Given the description of an element on the screen output the (x, y) to click on. 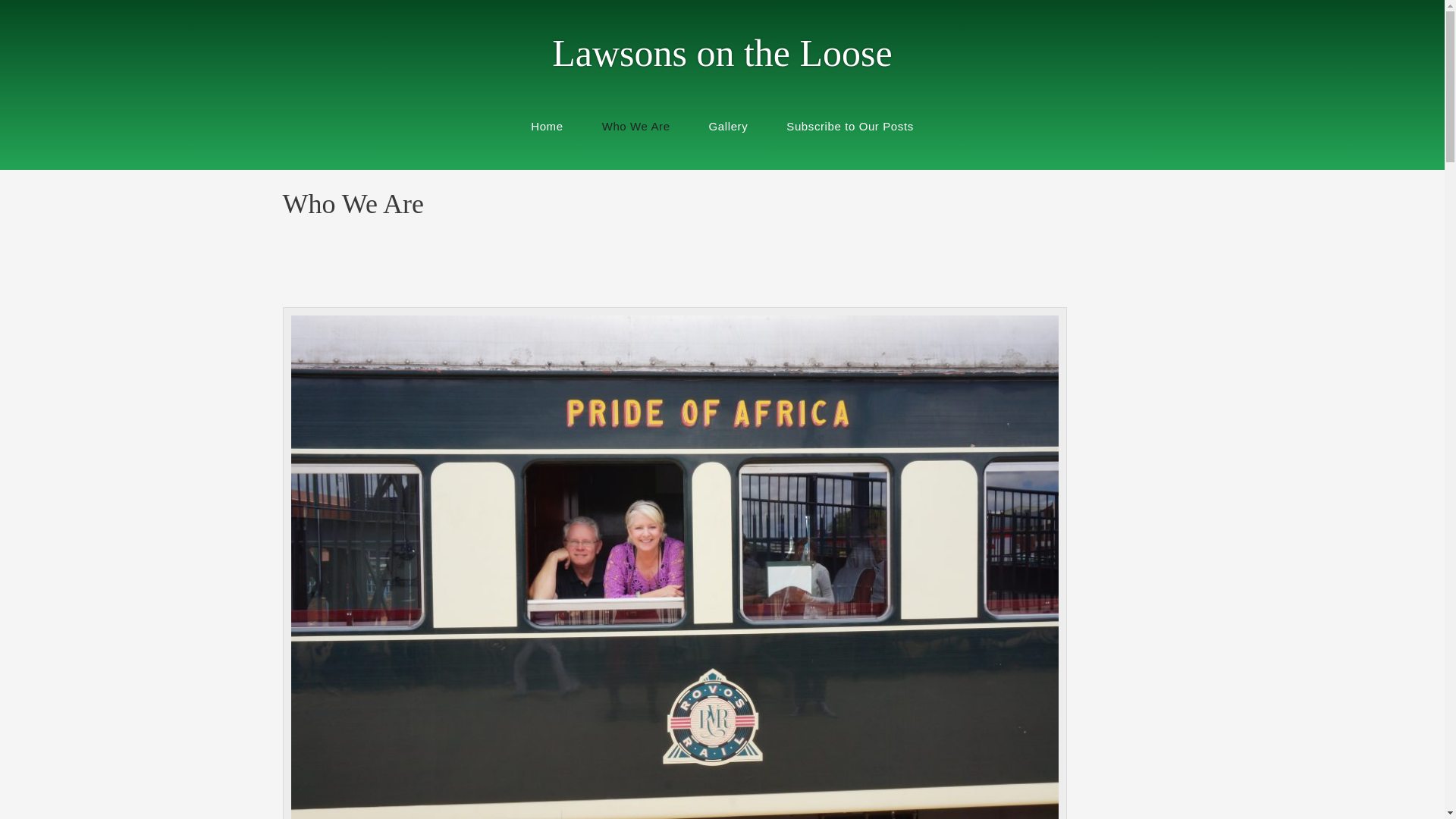
Home (546, 126)
Lawsons on the Loose (721, 52)
Lawsons on the Loose (721, 52)
Who We Are (635, 126)
Gallery (728, 126)
Subscribe to Our Posts (849, 126)
